Given the description of an element on the screen output the (x, y) to click on. 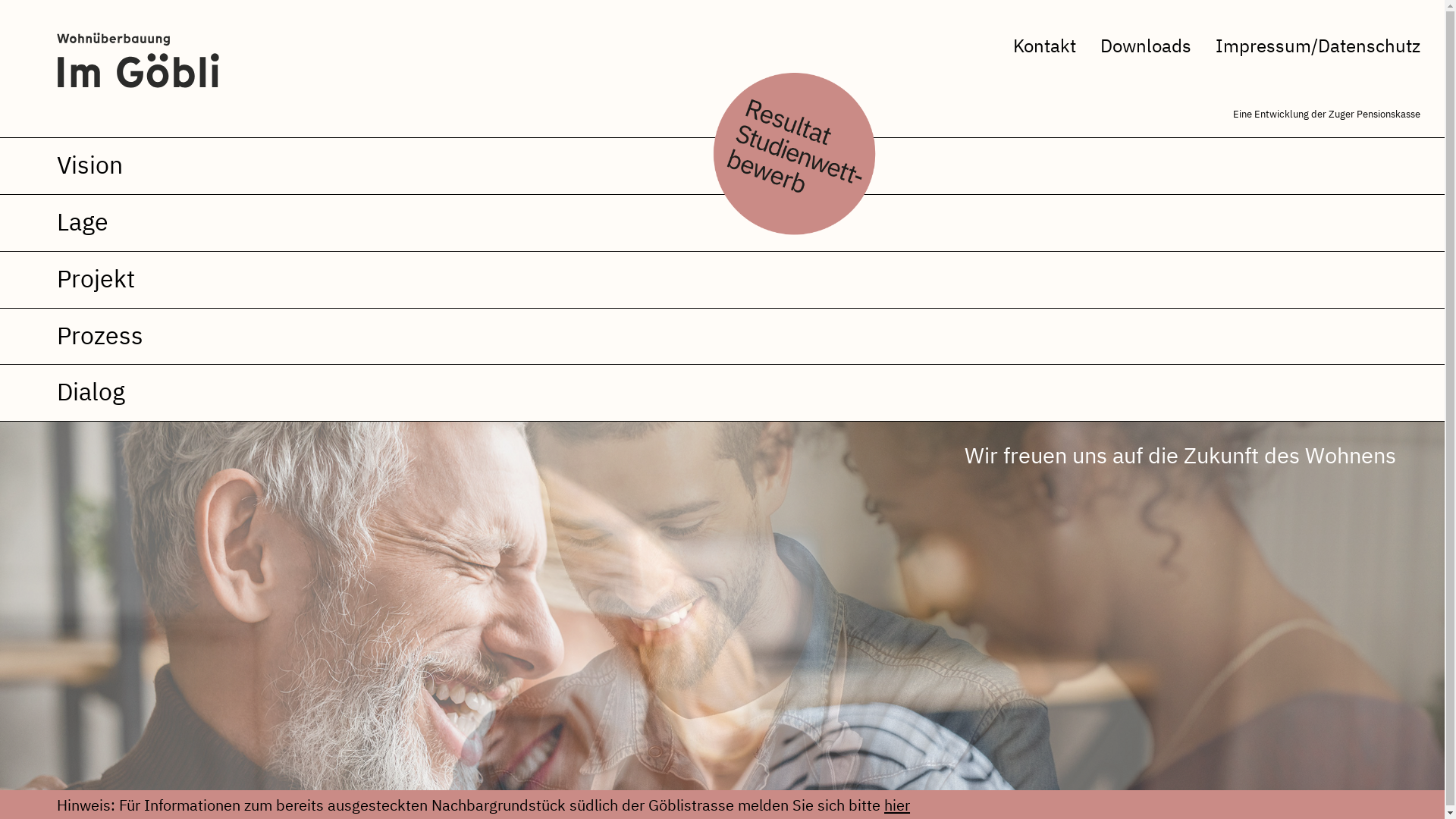
Impressum/Datenschutz Element type: text (1317, 45)
Lage Element type: text (722, 223)
Eine Entwicklung der Zuger Pensionskasse Element type: text (1326, 113)
Prozess Element type: text (722, 337)
hier Element type: text (897, 804)
Kontakt Element type: text (1044, 45)
Projekt Element type: text (722, 280)
Downloads Element type: text (1145, 45)
Dialog Element type: text (722, 393)
Vision Element type: text (722, 166)
